Given the description of an element on the screen output the (x, y) to click on. 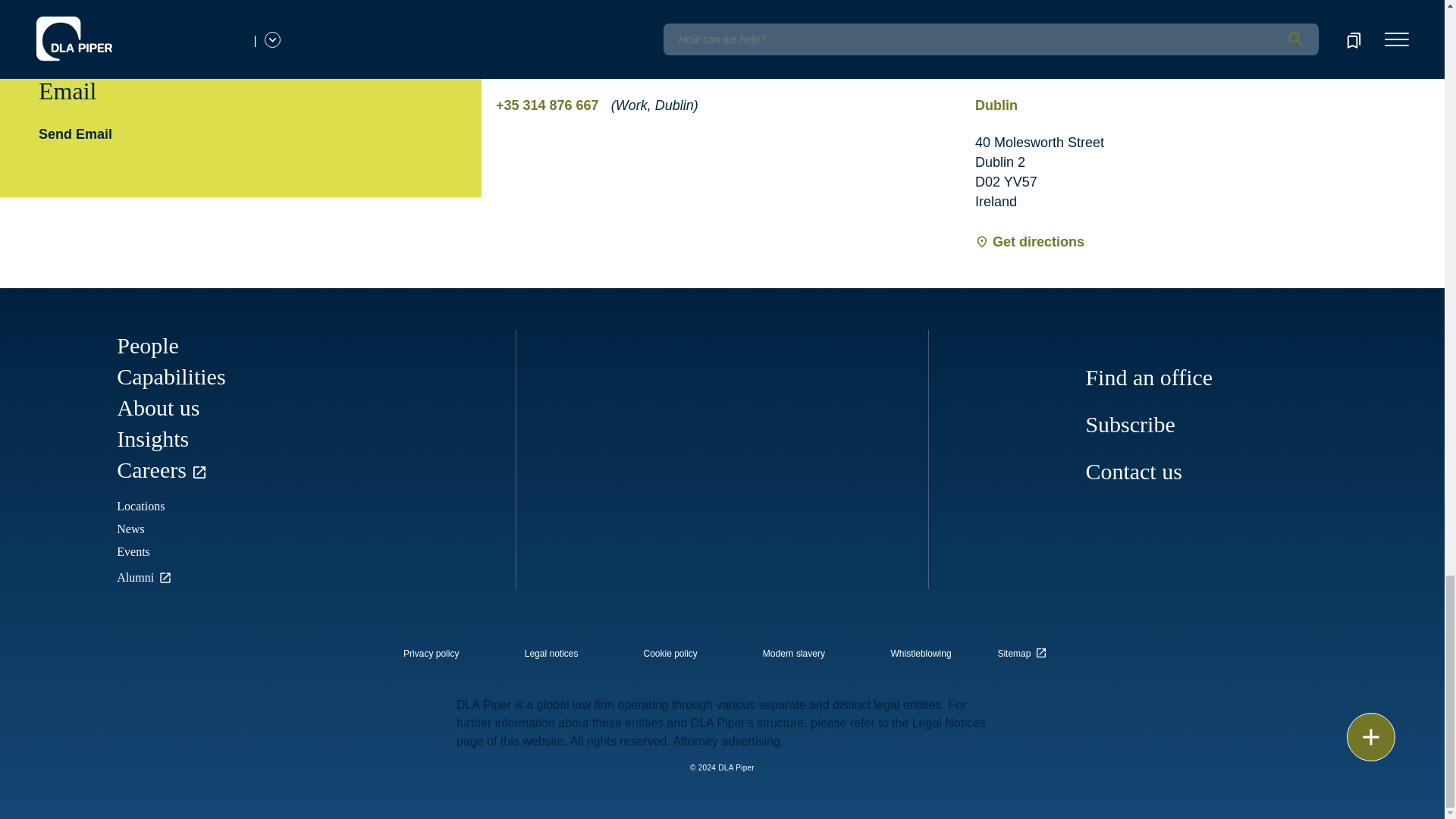
internal (549, 653)
internal (430, 653)
internal (920, 653)
external (1024, 649)
internal (670, 653)
internal (793, 653)
